Given the description of an element on the screen output the (x, y) to click on. 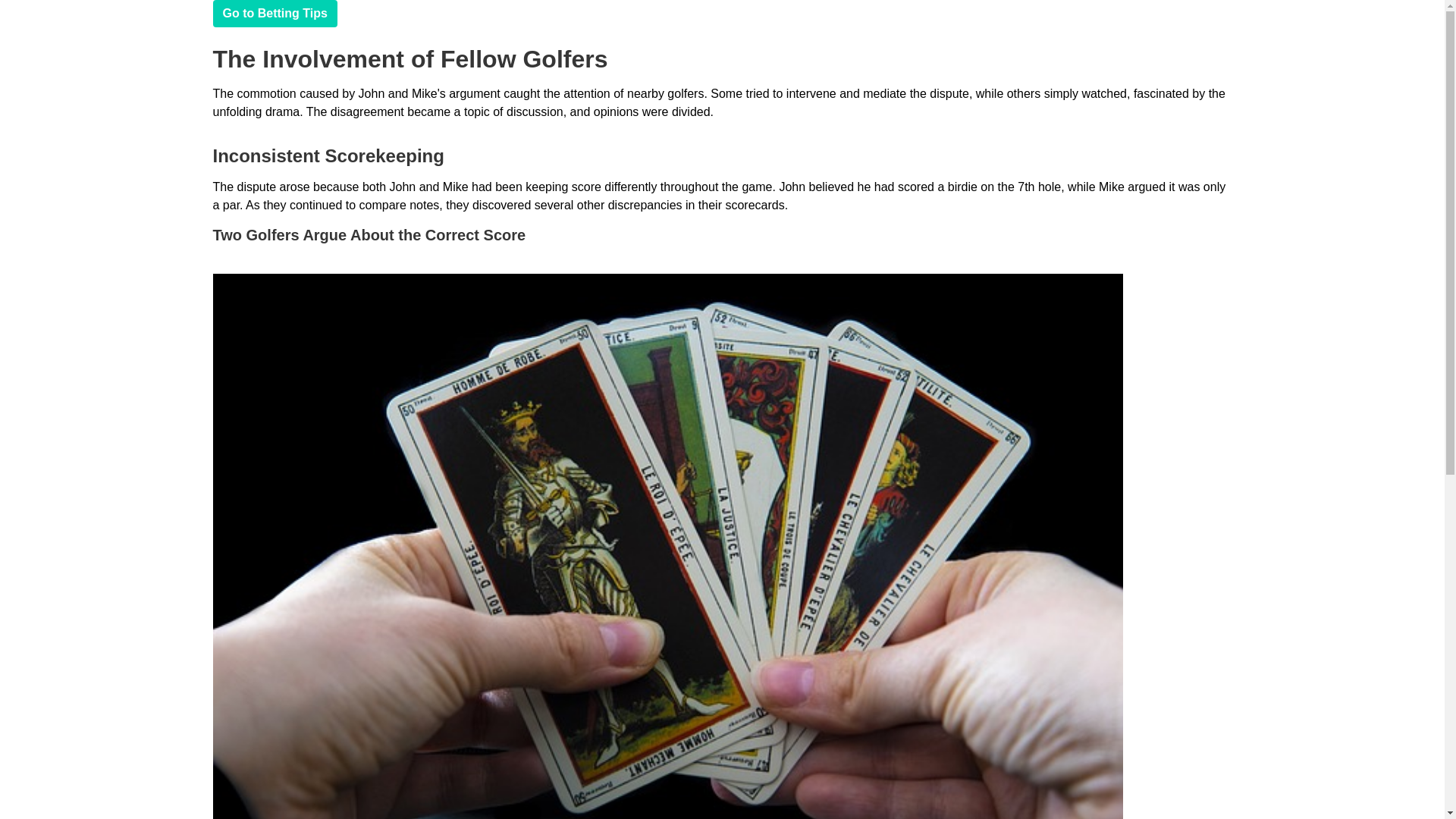
play (274, 13)
Go to Betting Tips (274, 13)
